Given the description of an element on the screen output the (x, y) to click on. 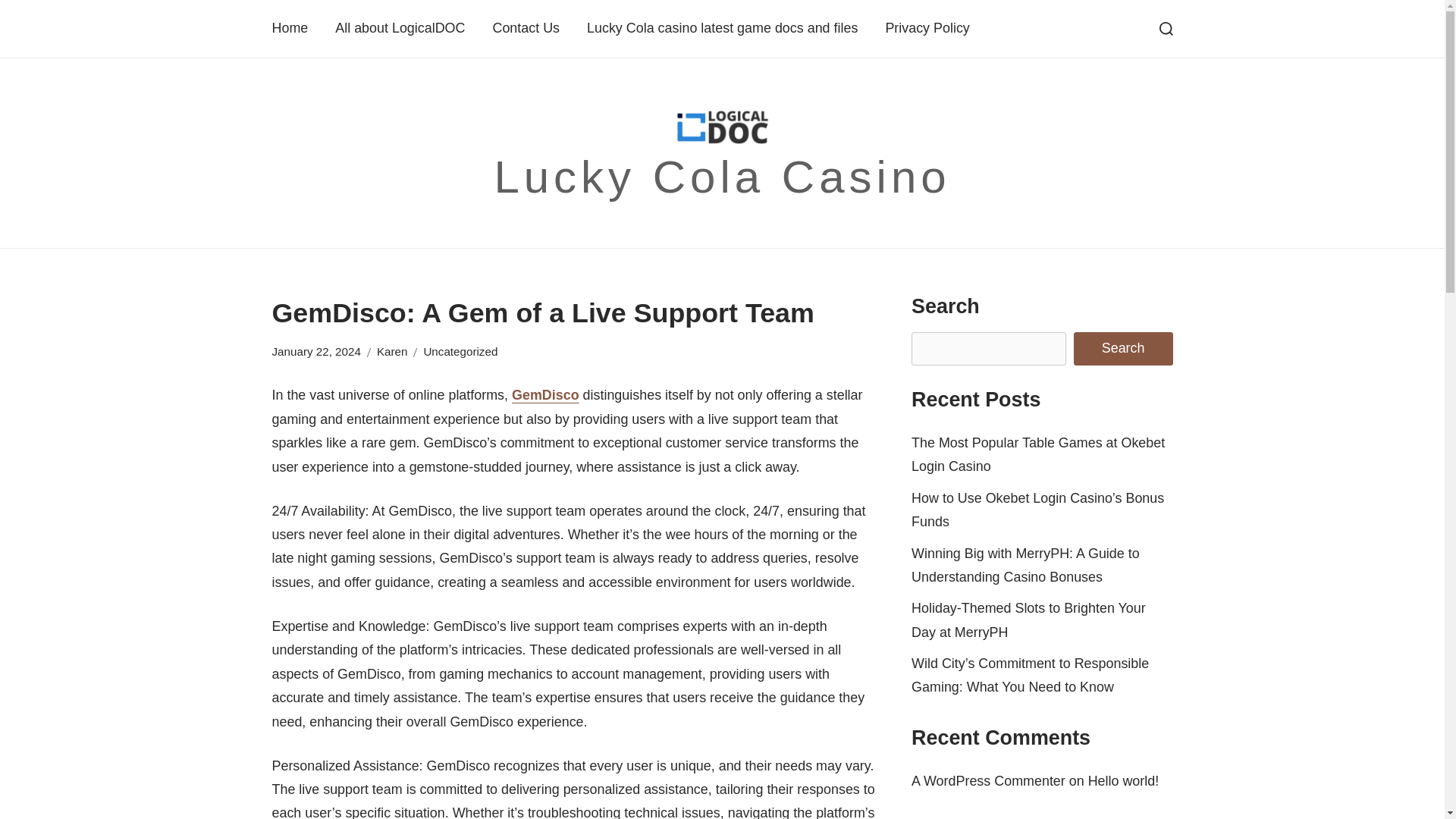
Uncategorized (460, 352)
The Most Popular Table Games at Okebet Login Casino (1037, 454)
Lucky Cola Casino (721, 176)
A WordPress Commenter (988, 780)
Privacy Policy (927, 28)
Holiday-Themed Slots to Brighten Your Day at MerryPH (1028, 619)
January 22, 2024 (314, 352)
GemDisco (545, 394)
Search (1123, 348)
Karen (392, 352)
